Given the description of an element on the screen output the (x, y) to click on. 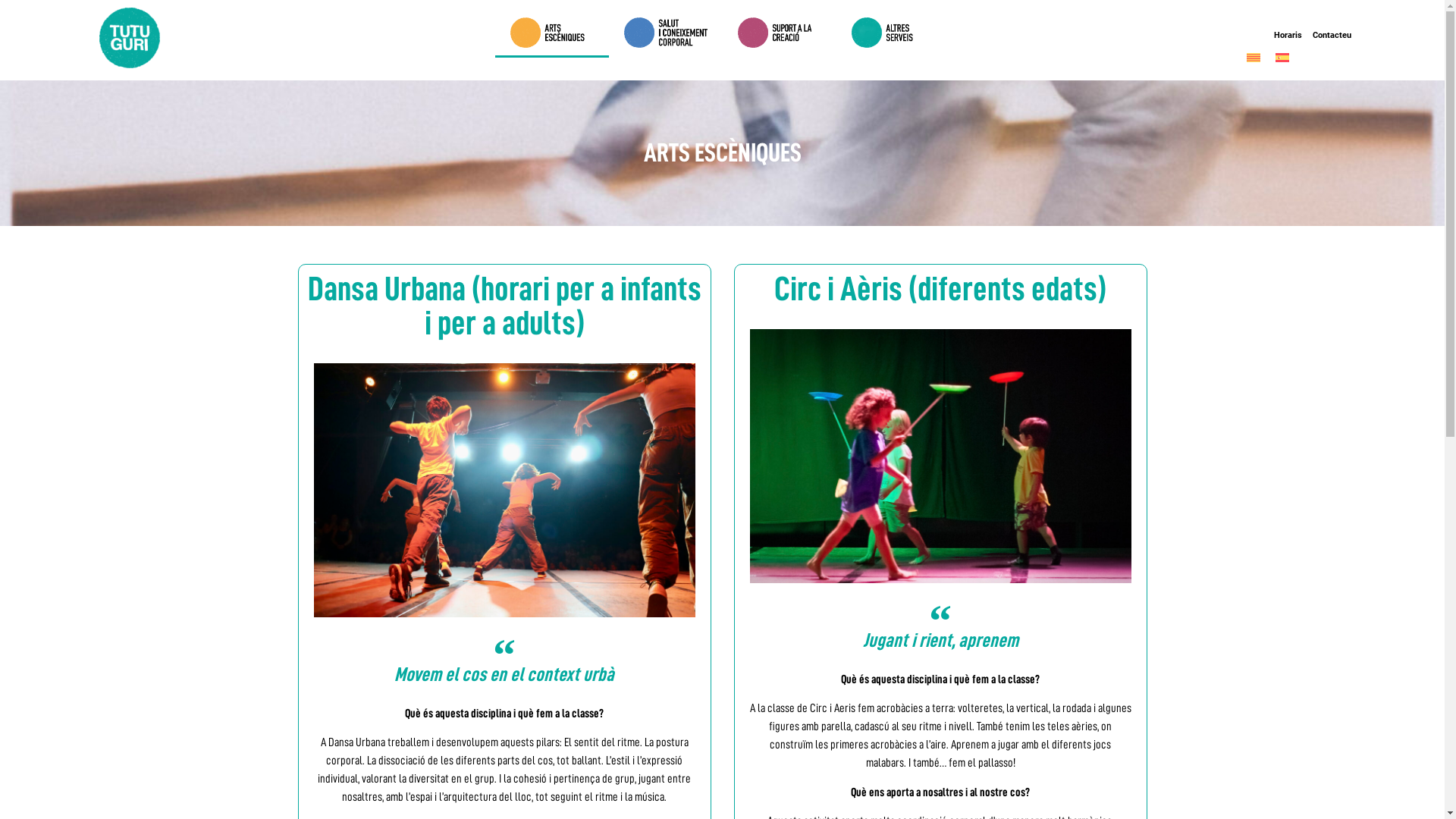
logo_sense_fons-e1596983768372 Element type: hover (129, 37)
Horaris Element type: text (1287, 35)
Contacteu Element type: text (1331, 35)
